Given the description of an element on the screen output the (x, y) to click on. 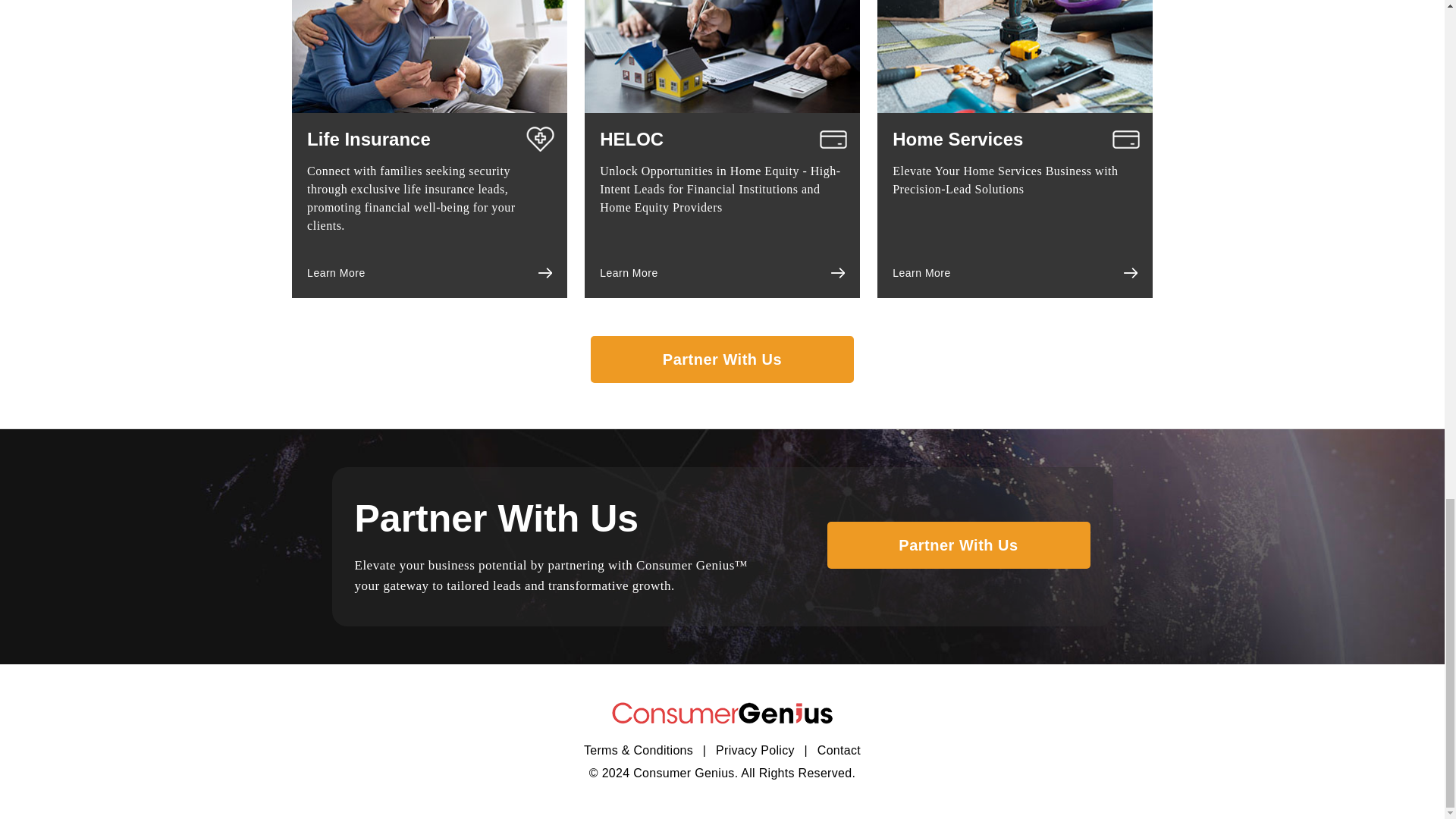
Privacy Policy (755, 749)
Learn More (336, 272)
Contact (838, 749)
Partner With Us (722, 359)
Partner With Us (958, 544)
Learn More (921, 272)
Learn More (628, 272)
